Given the description of an element on the screen output the (x, y) to click on. 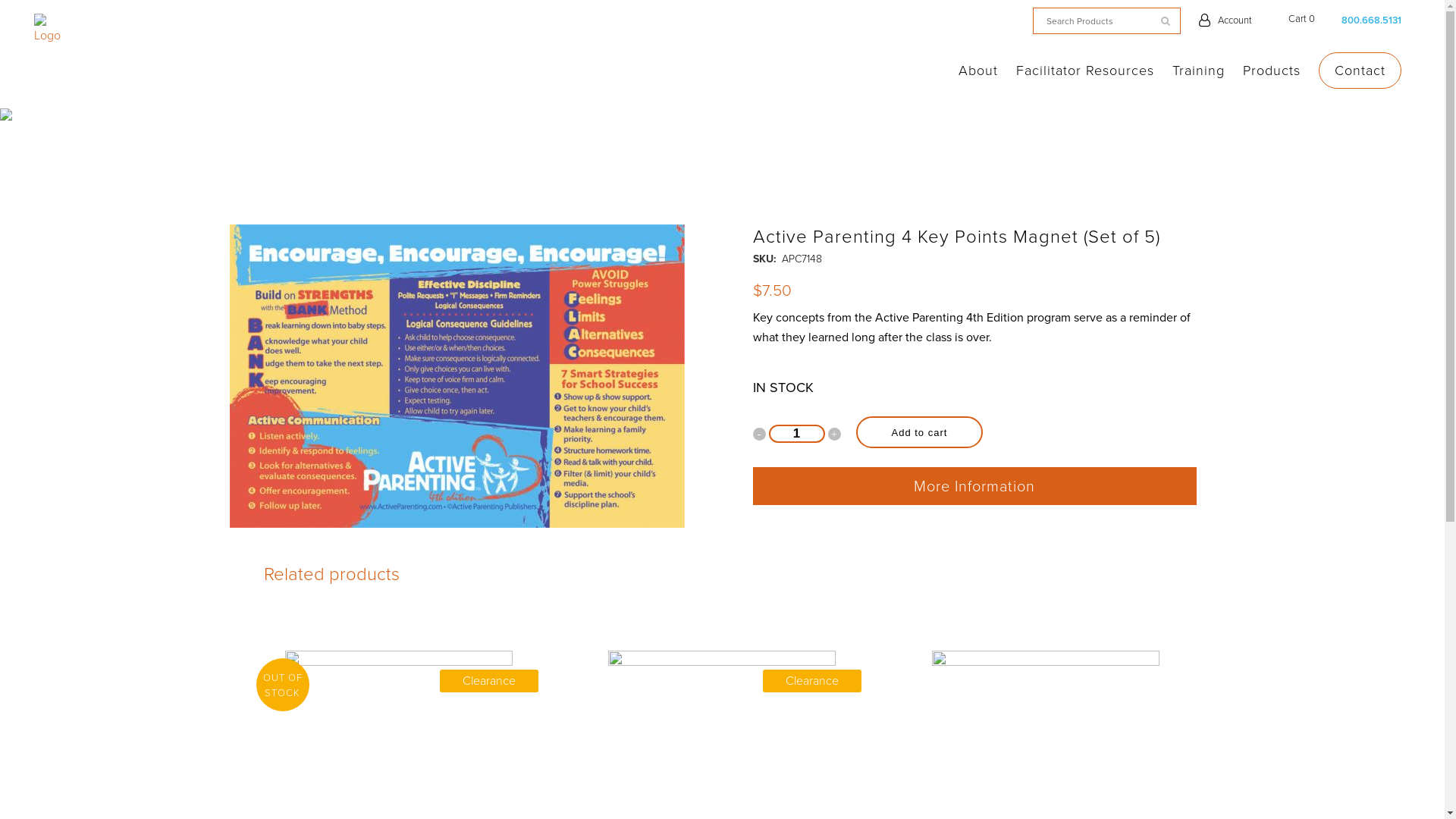
Contact Element type: text (1359, 70)
0 Element type: text (1286, 21)
7148 Element type: hover (456, 375)
Facilitator Resources Element type: text (1085, 70)
800.668.5131 Element type: text (1371, 19)
Training Element type: text (1198, 70)
About Element type: text (978, 70)
Add to cart Element type: text (918, 432)
Account Element type: text (1234, 19)
Qty Element type: hover (796, 433)
Products Element type: text (1271, 70)
